Given the description of an element on the screen output the (x, y) to click on. 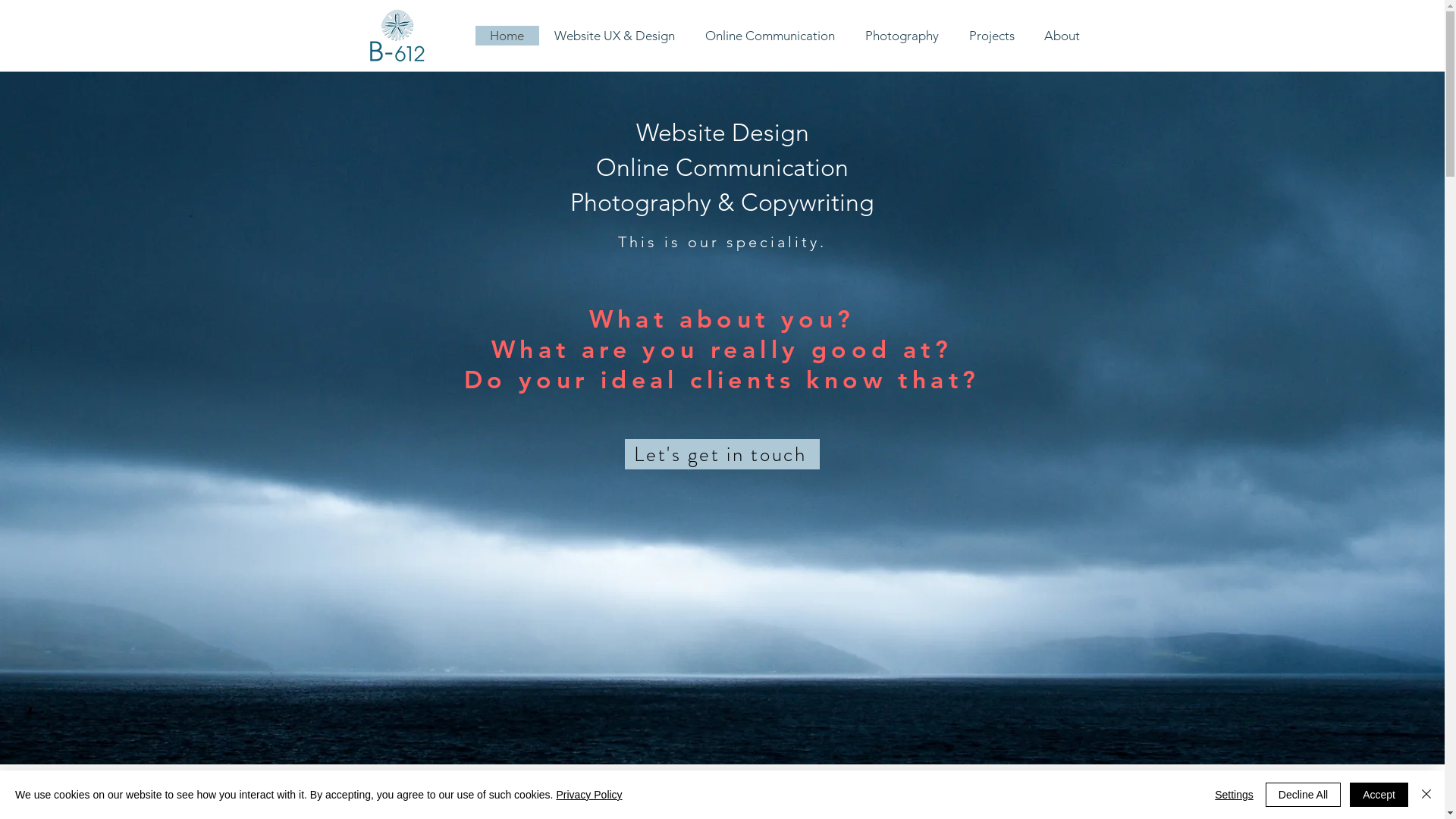
Photography Element type: text (901, 35)
Website UX & Design Element type: text (613, 35)
Projects Element type: text (991, 35)
About Element type: text (1060, 35)
Online Communication Element type: text (770, 35)
Let's get in touch Element type: text (721, 454)
Decline All Element type: text (1302, 794)
Accept Element type: text (1378, 794)
Privacy Policy Element type: text (588, 794)
Home Element type: text (506, 35)
This is our speciality. Element type: text (722, 241)
